Given the description of an element on the screen output the (x, y) to click on. 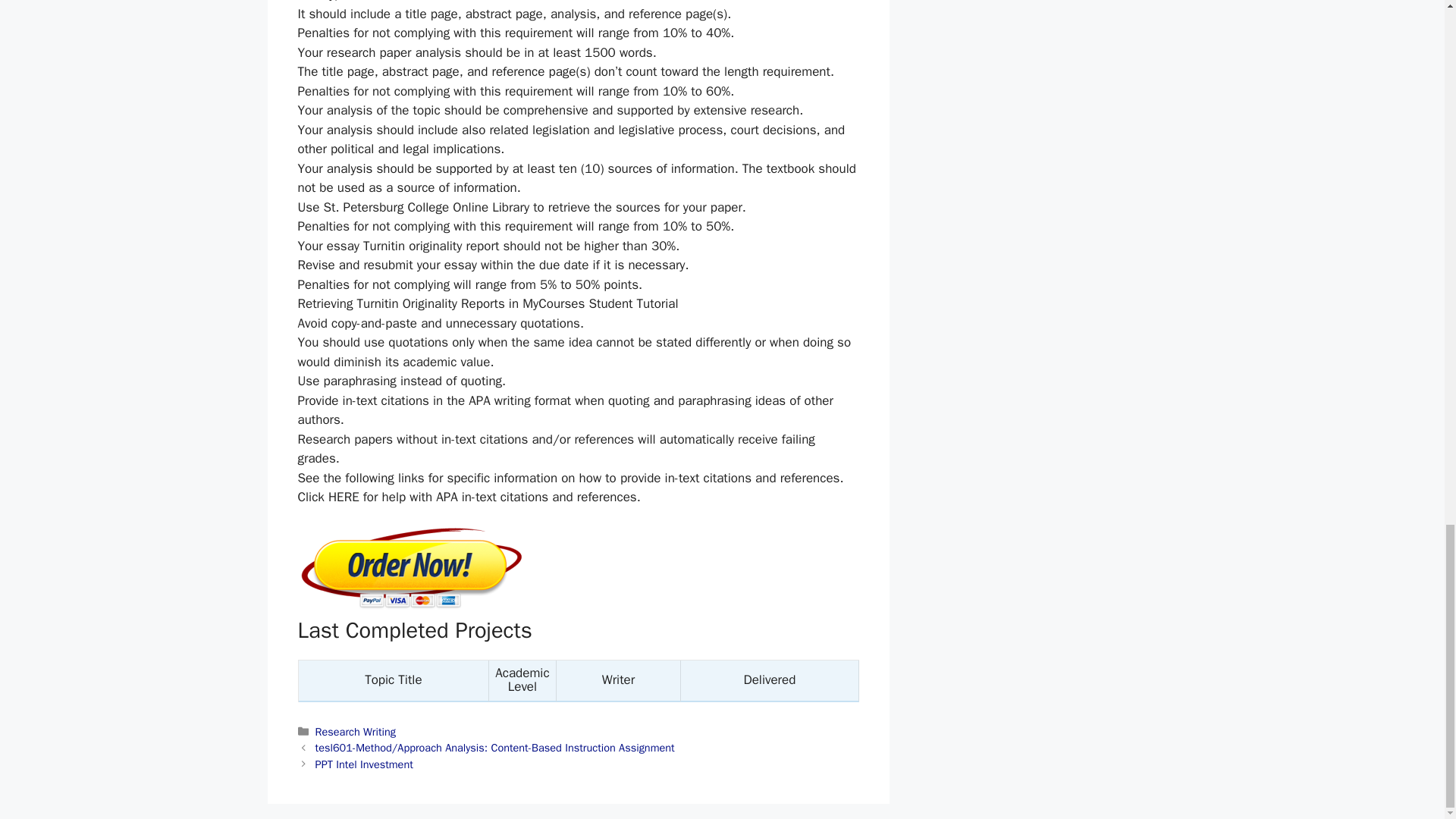
Research Writing (355, 731)
PPT Intel Investment (364, 764)
